Given the description of an element on the screen output the (x, y) to click on. 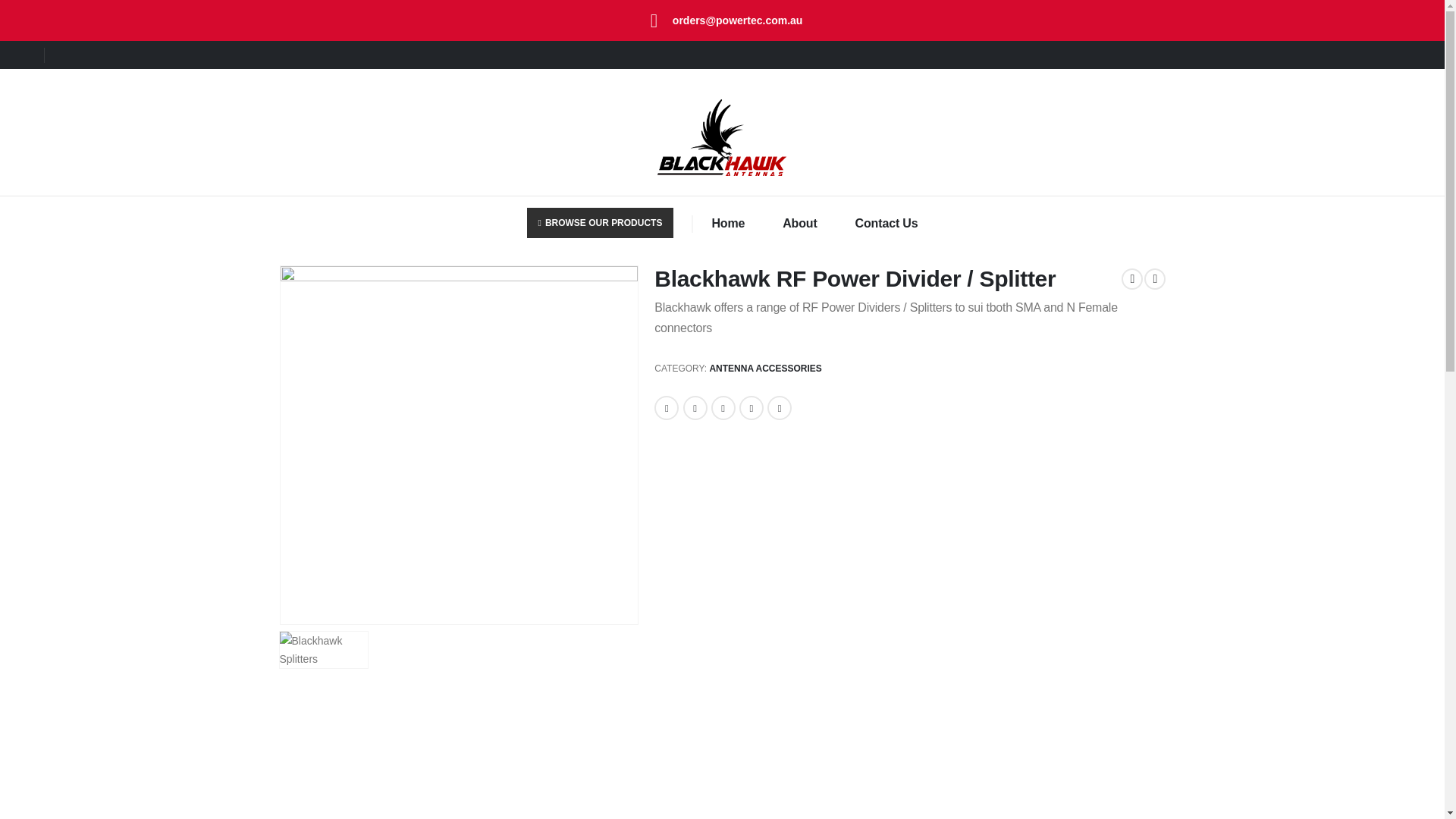
Facebook (665, 407)
Twitter (694, 407)
Blackhawk Splitters (460, 445)
Twitter (694, 407)
Email (779, 407)
Facebook (665, 407)
ANTENNA ACCESSORIES (765, 368)
LinkedIn (723, 407)
Blackhawk Antennas - Blackhawk Antennas (722, 137)
Contact Us (887, 222)
Email (779, 407)
LinkedIn (723, 407)
